Given the description of an element on the screen output the (x, y) to click on. 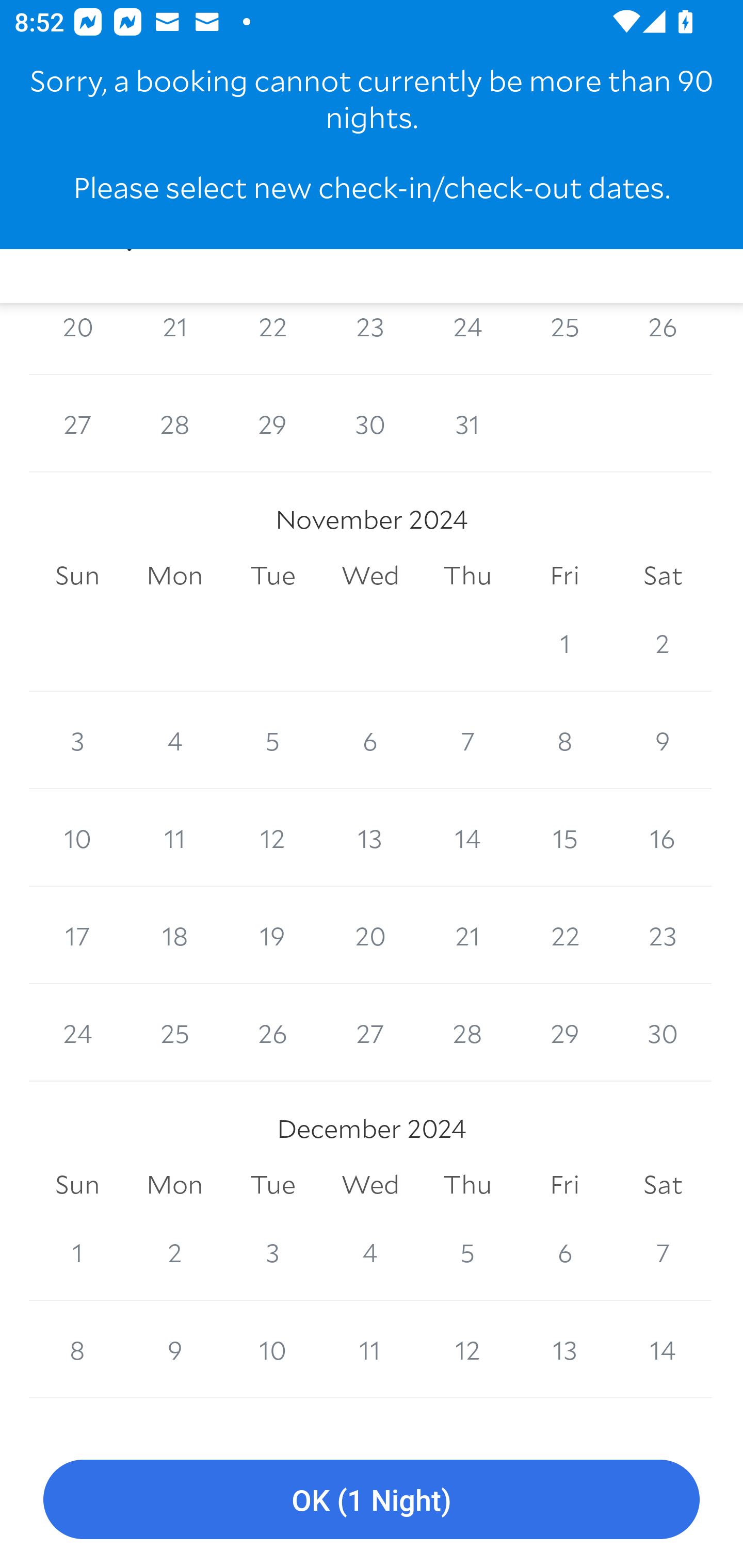
20 20 October 2024 (77, 338)
21 21 October 2024 (174, 338)
22 22 October 2024 (272, 338)
23 23 October 2024 (370, 338)
24 24 October 2024 (467, 338)
25 25 October 2024 (564, 338)
26 26 October 2024 (662, 338)
27 27 October 2024 (77, 422)
28 28 October 2024 (174, 422)
29 29 October 2024 (272, 422)
30 30 October 2024 (370, 422)
31 31 October 2024 (467, 422)
Sun (77, 575)
Mon (174, 575)
Tue (272, 575)
Wed (370, 575)
Thu (467, 575)
Fri (564, 575)
Sat (662, 575)
1 1 November 2024 (564, 642)
2 2 November 2024 (662, 642)
3 3 November 2024 (77, 739)
4 4 November 2024 (174, 739)
5 5 November 2024 (272, 739)
6 6 November 2024 (370, 739)
7 7 November 2024 (467, 739)
8 8 November 2024 (564, 739)
9 9 November 2024 (662, 739)
10 10 November 2024 (77, 836)
11 11 November 2024 (174, 836)
12 12 November 2024 (272, 836)
13 13 November 2024 (370, 836)
14 14 November 2024 (467, 836)
15 15 November 2024 (564, 836)
16 16 November 2024 (662, 836)
17 17 November 2024 (77, 934)
18 18 November 2024 (174, 934)
19 19 November 2024 (272, 934)
20 20 November 2024 (370, 934)
21 21 November 2024 (467, 934)
22 22 November 2024 (564, 934)
23 23 November 2024 (662, 934)
24 24 November 2024 (77, 1032)
25 25 November 2024 (174, 1032)
26 26 November 2024 (272, 1032)
27 27 November 2024 (370, 1032)
28 28 November 2024 (467, 1032)
29 29 November 2024 (564, 1032)
30 30 November 2024 (662, 1032)
Sun (77, 1184)
Mon (174, 1184)
Tue (272, 1184)
Wed (370, 1184)
Thu (467, 1184)
Fri (564, 1184)
Sat (662, 1184)
1 1 December 2024 (77, 1251)
2 2 December 2024 (174, 1251)
3 3 December 2024 (272, 1251)
4 4 December 2024 (370, 1251)
5 5 December 2024 (467, 1251)
6 6 December 2024 (564, 1251)
7 7 December 2024 (662, 1251)
8 8 December 2024 (77, 1349)
9 9 December 2024 (174, 1349)
10 10 December 2024 (272, 1349)
11 11 December 2024 (370, 1349)
12 12 December 2024 (467, 1349)
13 13 December 2024 (564, 1349)
14 14 December 2024 (662, 1349)
OK (1 Night) (371, 1499)
